Given the description of an element on the screen output the (x, y) to click on. 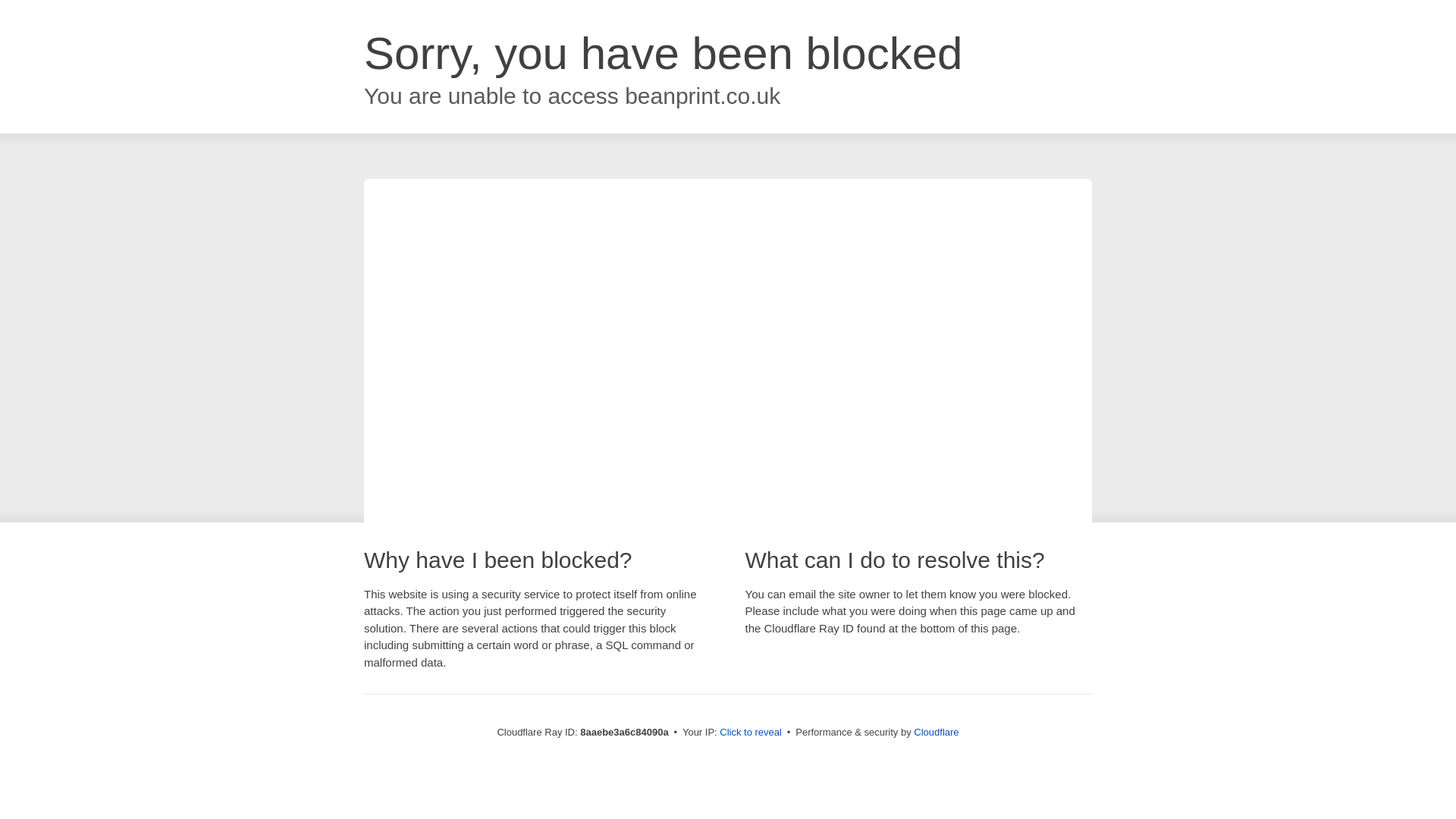
Cloudflare (936, 731)
Click to reveal (750, 732)
